Given the description of an element on the screen output the (x, y) to click on. 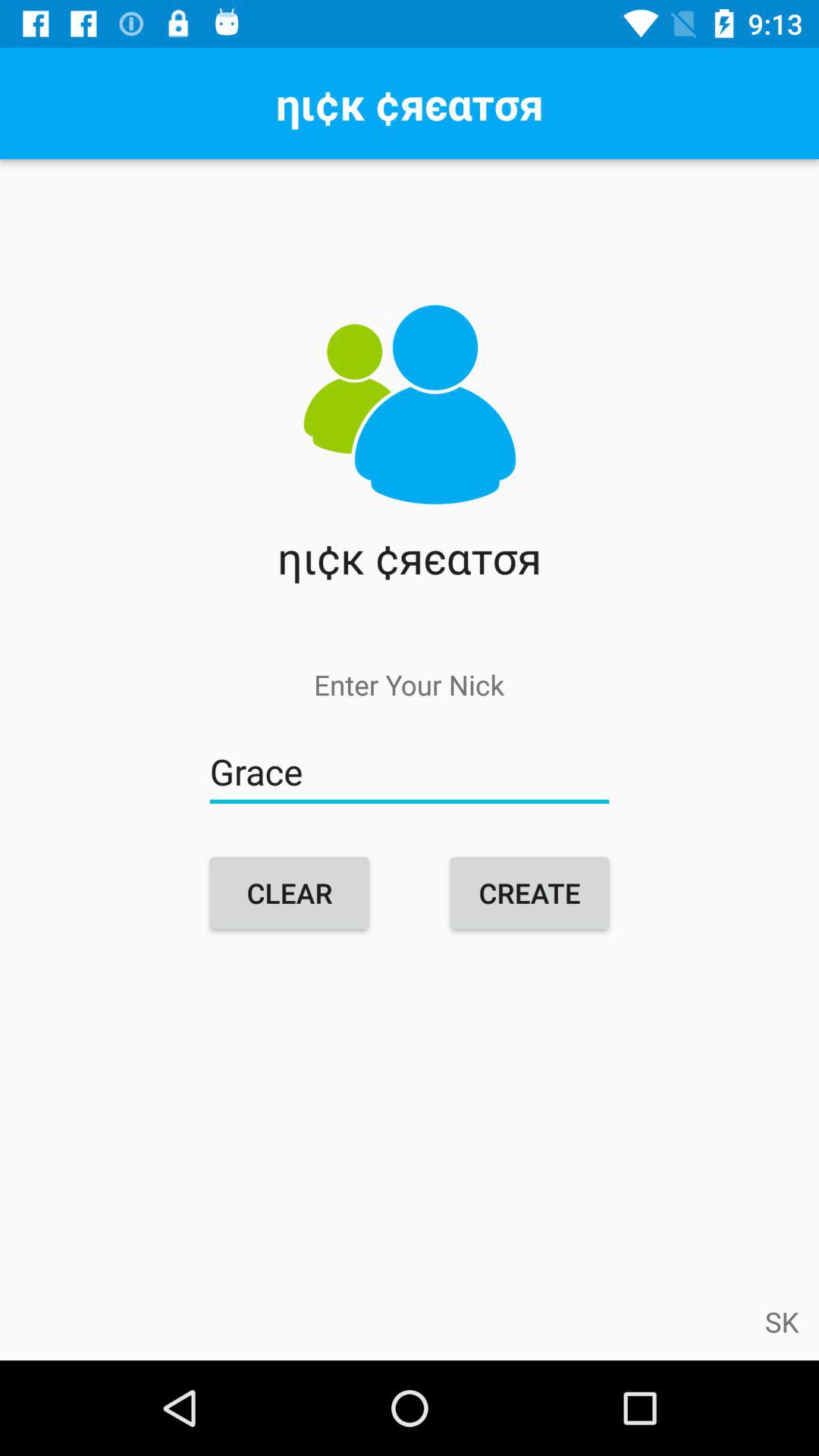
select item at the bottom right corner (782, 1321)
